Given the description of an element on the screen output the (x, y) to click on. 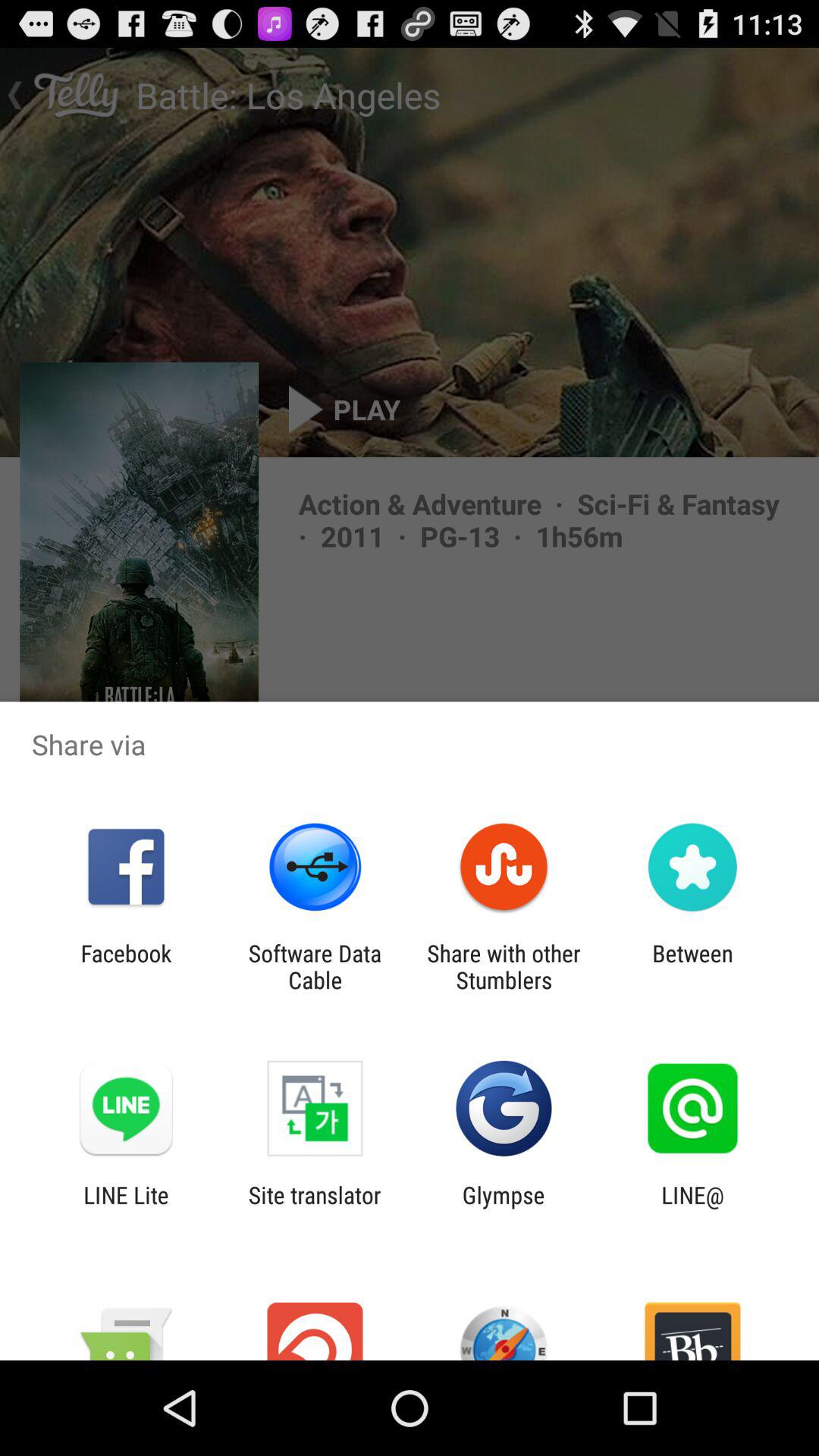
swipe until the line lite (125, 1208)
